Given the description of an element on the screen output the (x, y) to click on. 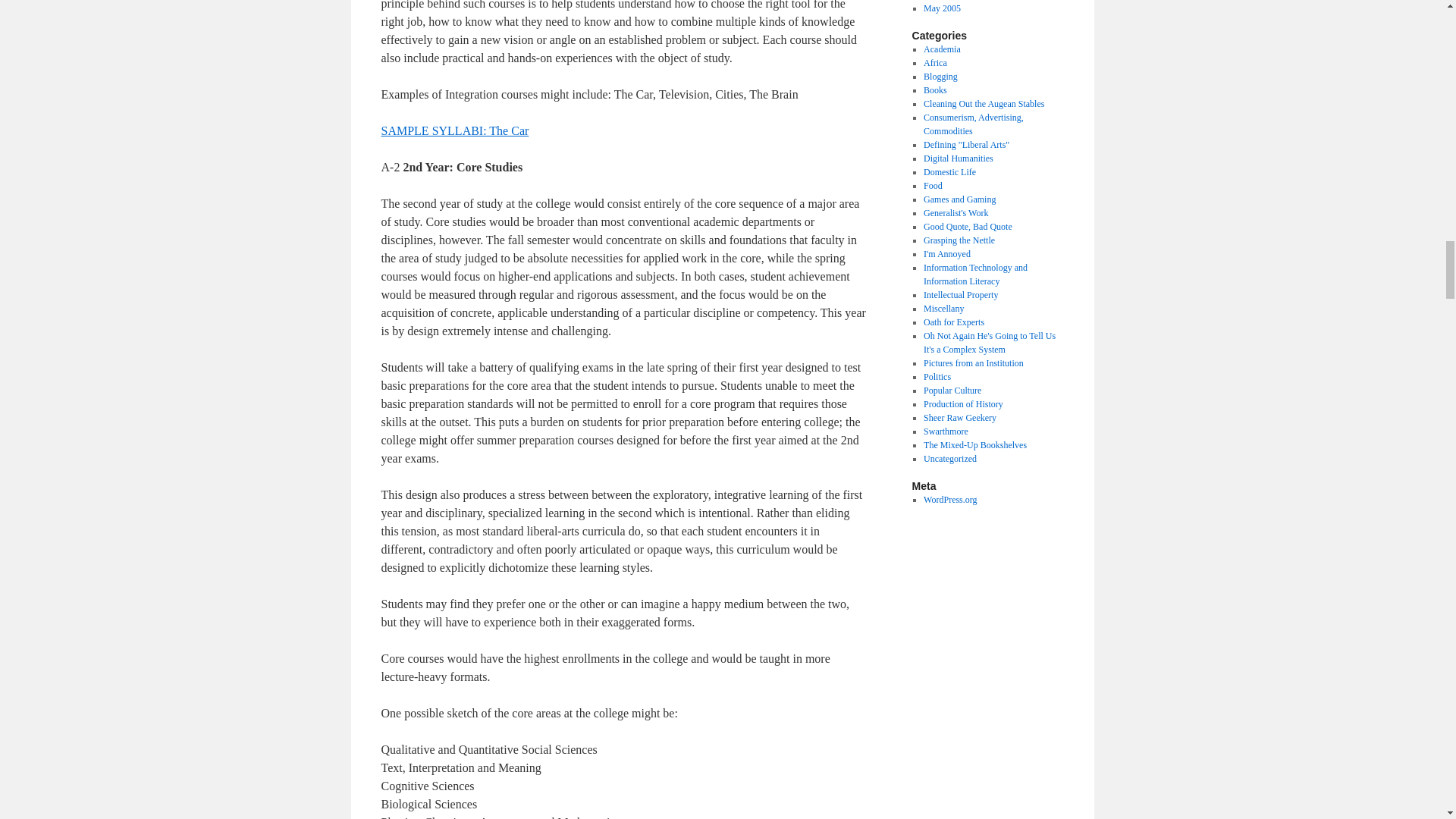
SAMPLE SYLLABI: The Car (454, 130)
